Given the description of an element on the screen output the (x, y) to click on. 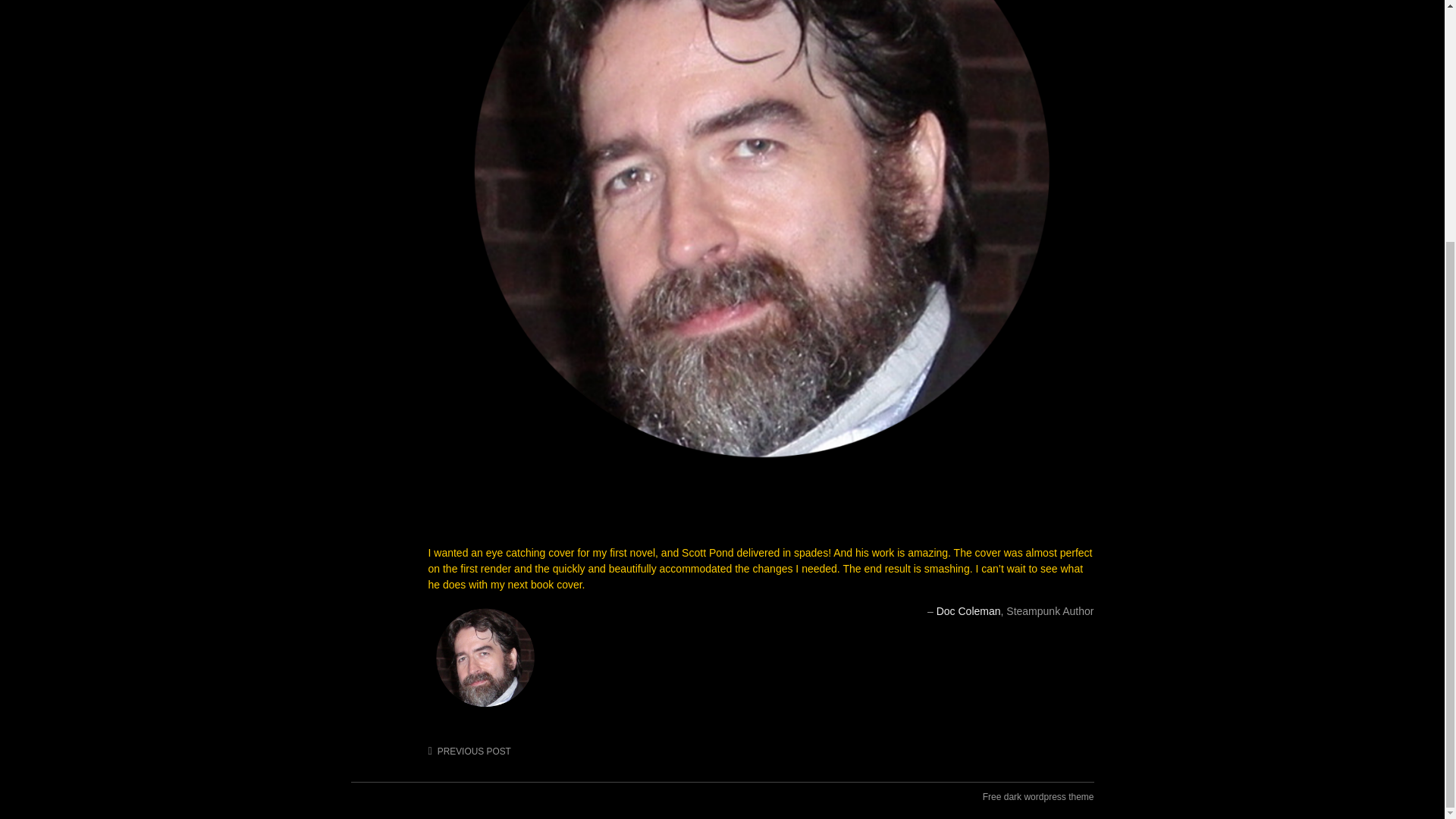
PREVIOUS POST (469, 751)
Doc Coleman (968, 611)
Free dark wordpress theme (1038, 796)
